Given the description of an element on the screen output the (x, y) to click on. 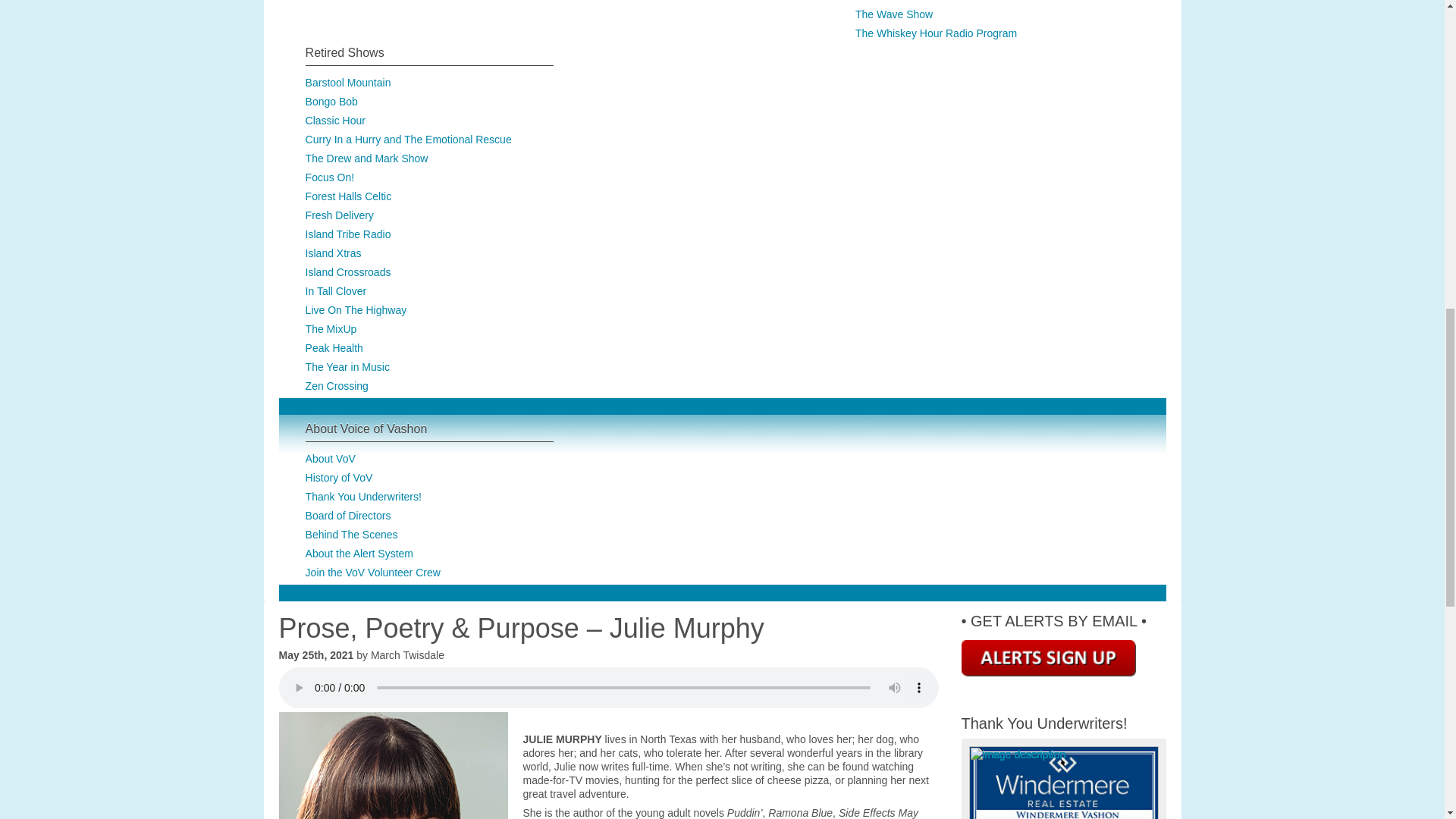
Island safety tips delivered with panache and a beat (331, 101)
